Given the description of an element on the screen output the (x, y) to click on. 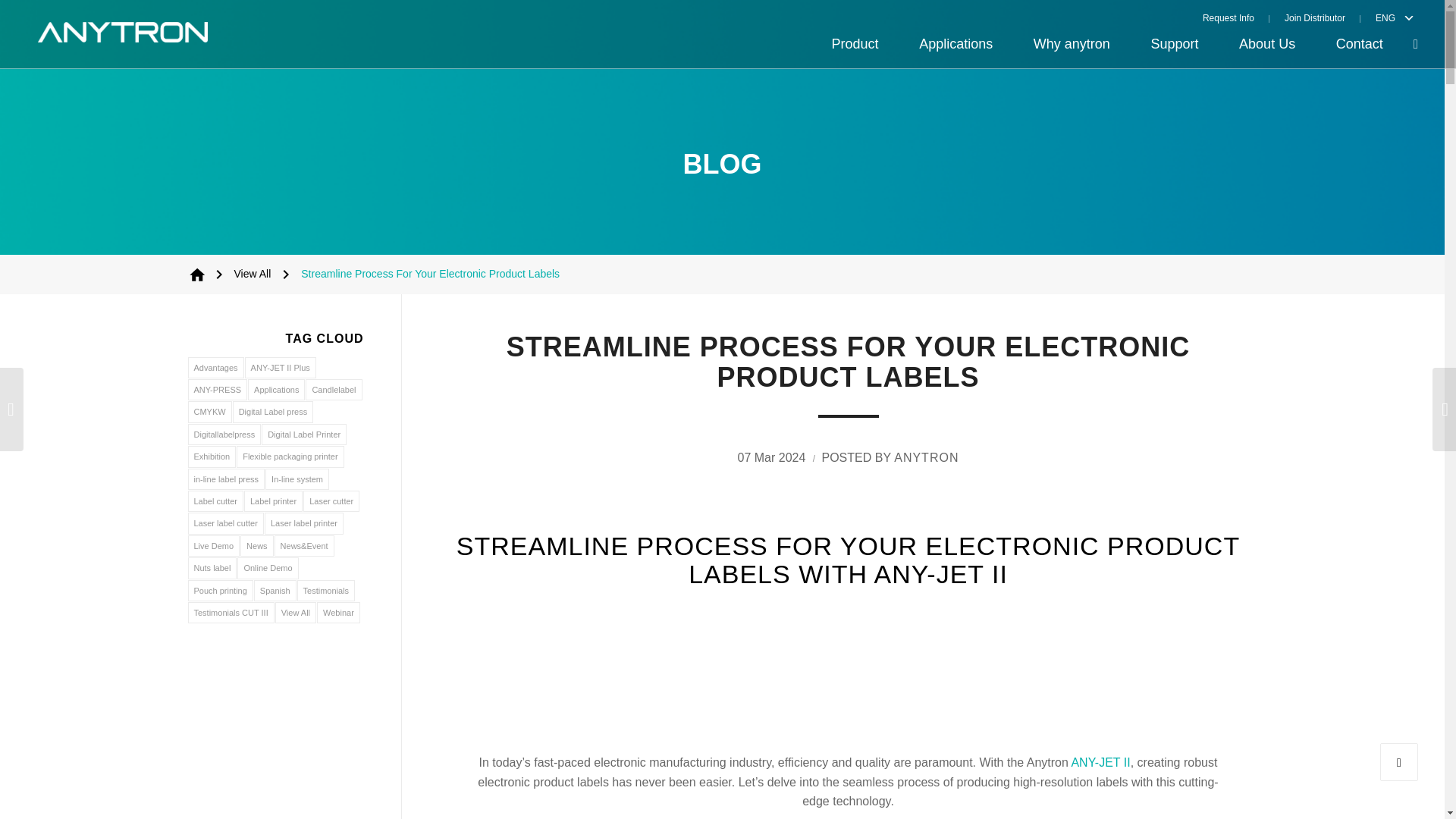
Anytron - Digital Print Pro (196, 274)
Applications (955, 44)
Scroll to top (1399, 761)
Join Distributor (1314, 17)
Request Info (1235, 17)
ENG (1381, 17)
Product (855, 44)
